Given the description of an element on the screen output the (x, y) to click on. 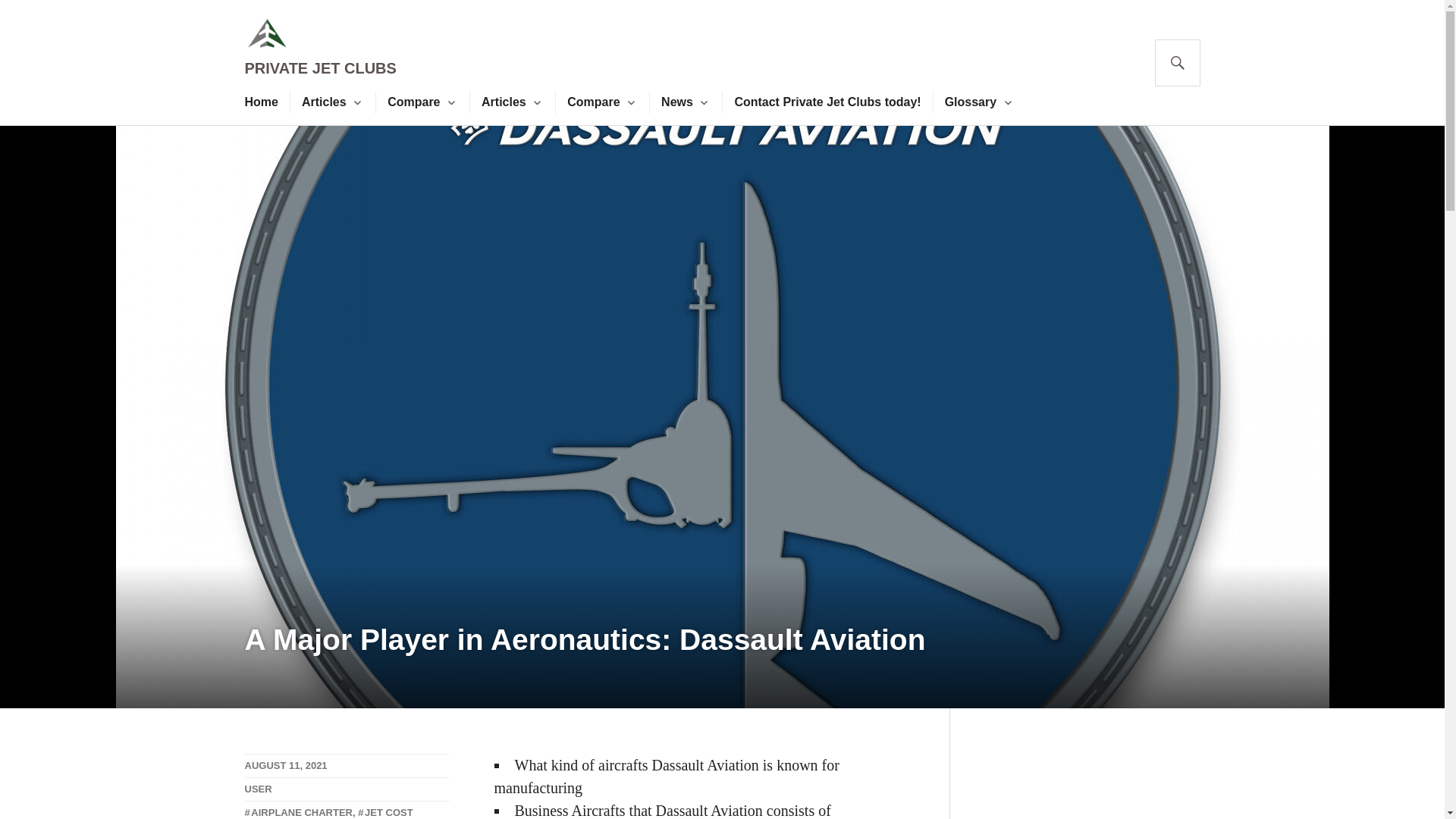
PRIVATE JET CLUBS (320, 67)
Articles (323, 101)
Home (261, 101)
